Given the description of an element on the screen output the (x, y) to click on. 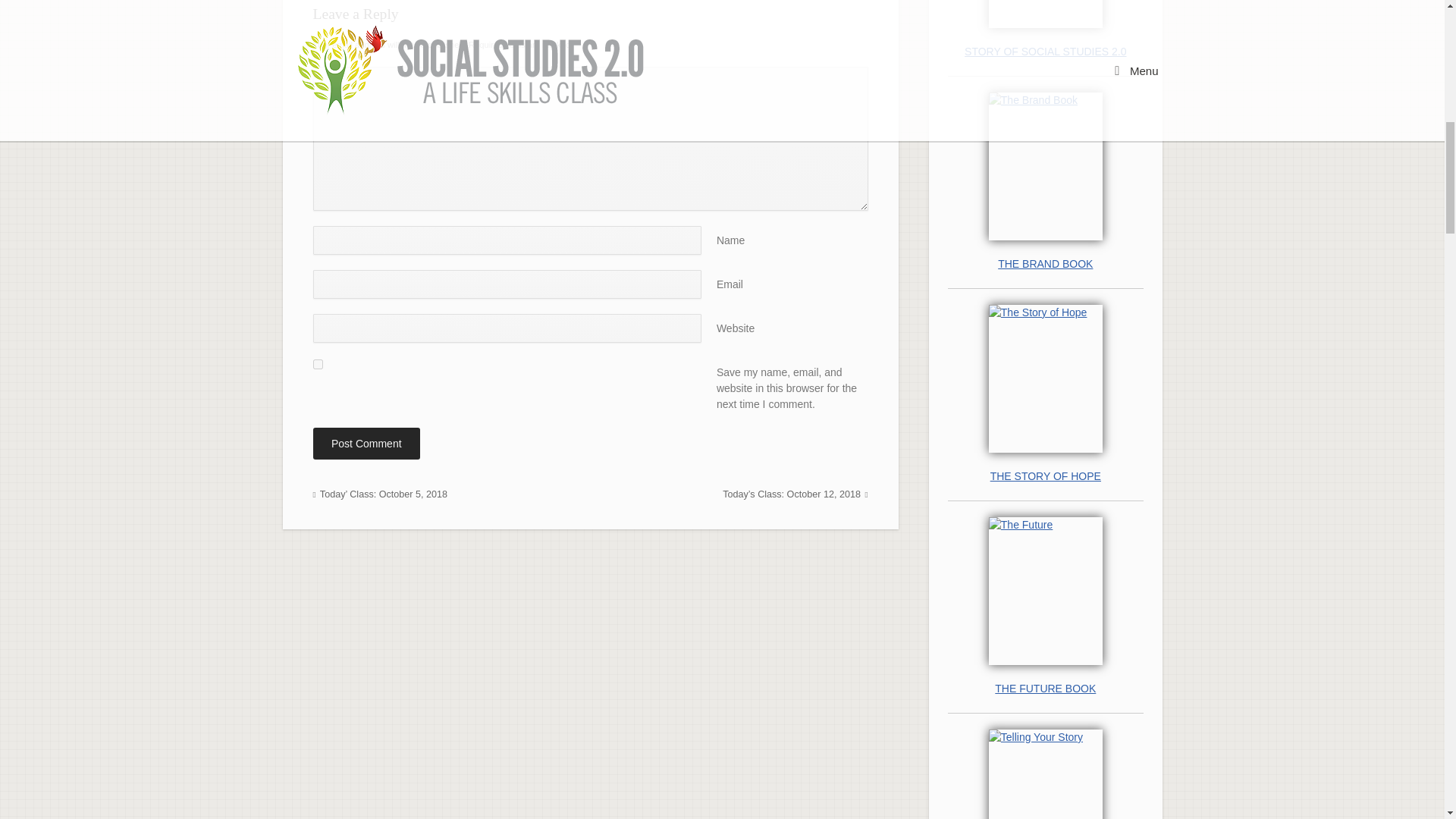
THE STORY OF HOPE (1044, 476)
THE BRAND BOOK (1044, 263)
THE FUTURE BOOK (1044, 688)
yes (317, 364)
STORY OF SOCIAL STUDIES 2.0 (1044, 51)
Post Comment (366, 443)
Post Comment (366, 443)
